Given the description of an element on the screen output the (x, y) to click on. 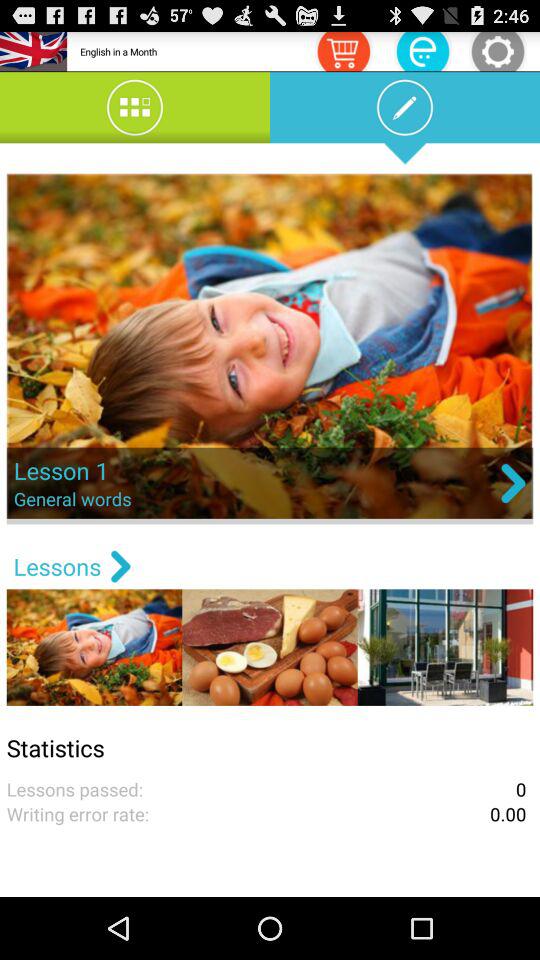
start first lesson (269, 348)
